Given the description of an element on the screen output the (x, y) to click on. 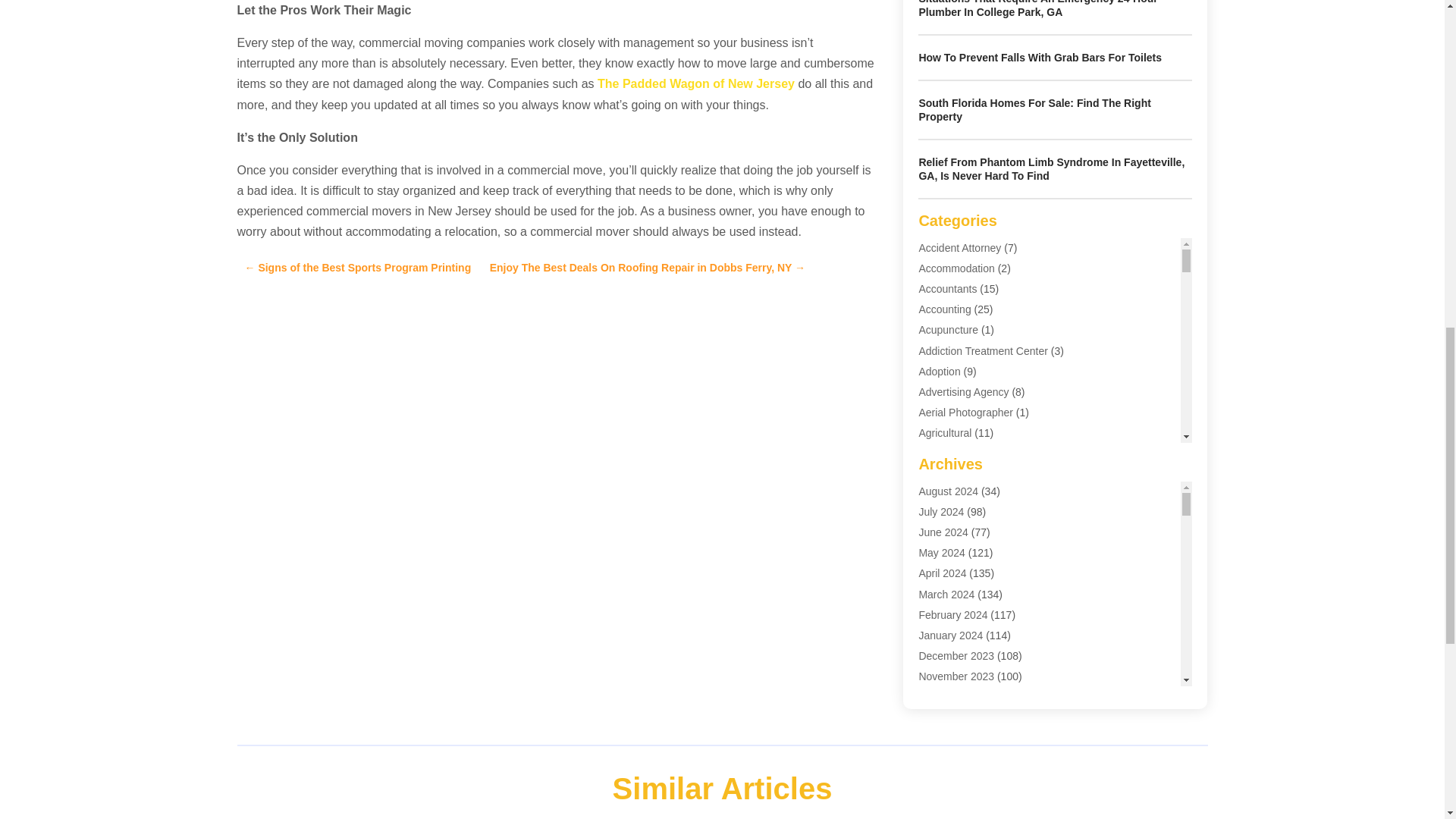
Advertising Agency (963, 391)
Accident Attorney (959, 247)
Accommodation (956, 268)
Accounting (944, 309)
Aerial Photographer (965, 412)
Acupuncture (948, 329)
Adoption (938, 371)
The Padded Wagon of New Jersey (695, 83)
South Florida Homes For Sale: Find The Right Property (1034, 109)
